Given the description of an element on the screen output the (x, y) to click on. 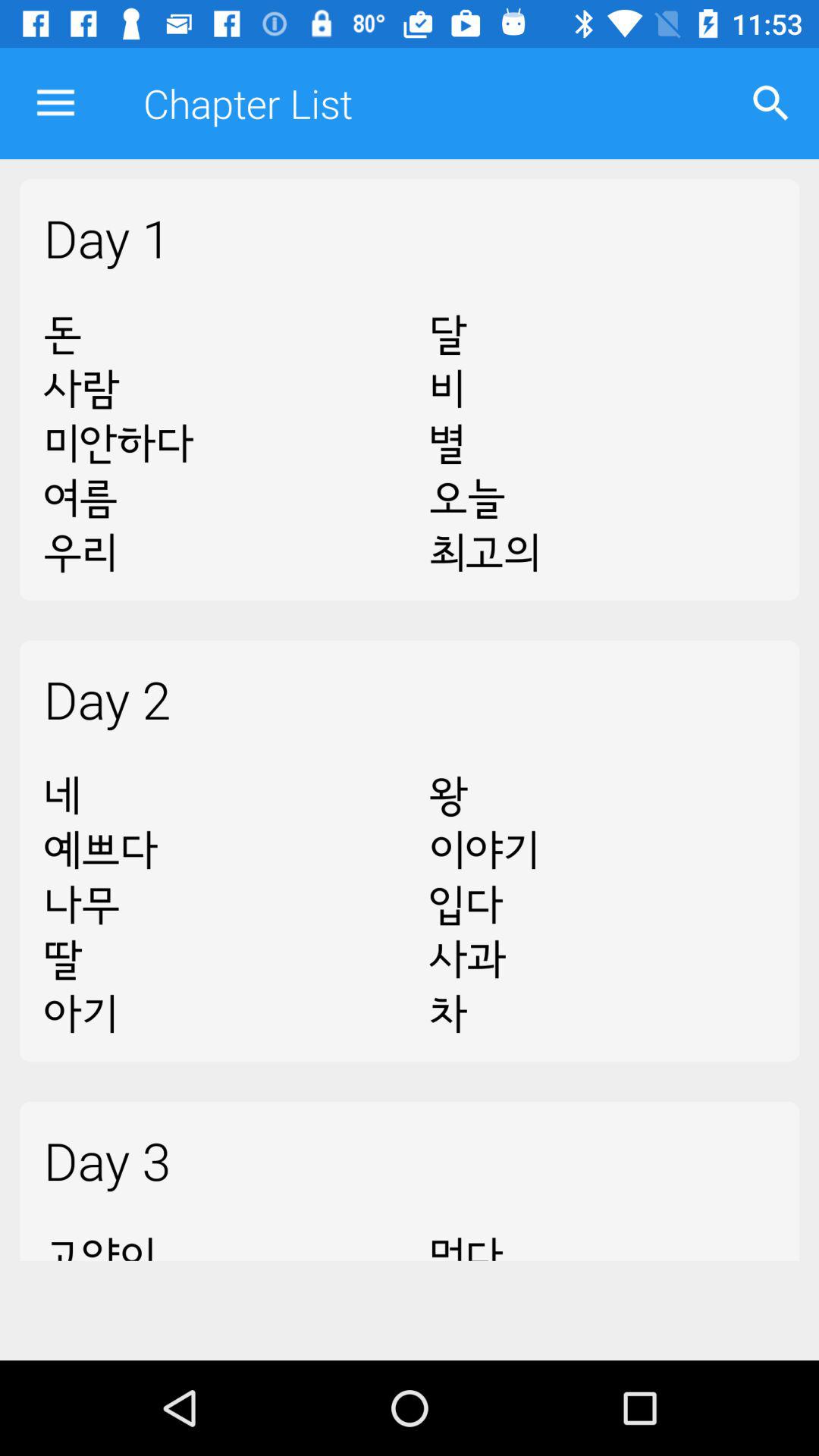
tap day 3 (409, 1159)
